Given the description of an element on the screen output the (x, y) to click on. 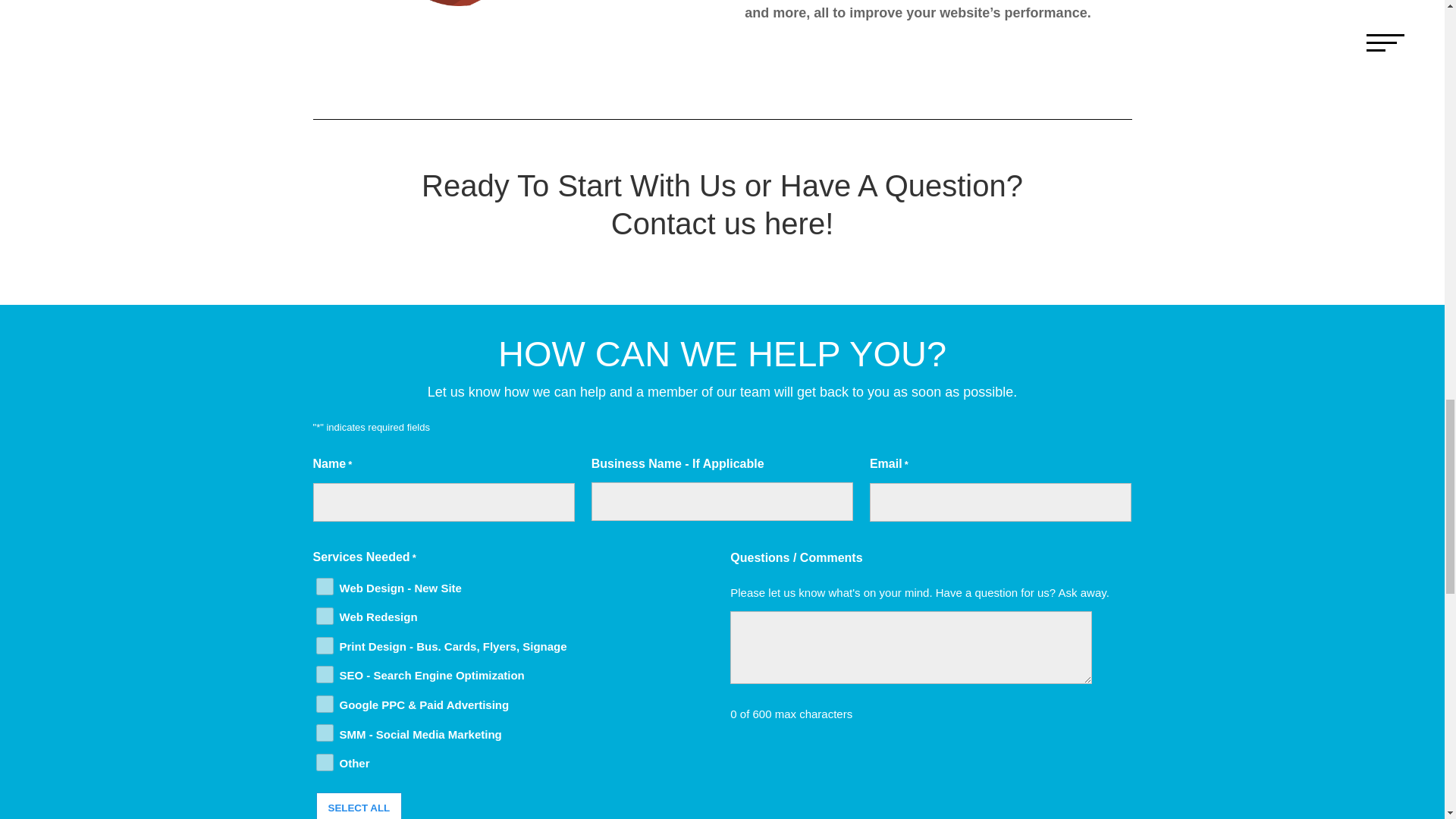
Web Design - New Site (324, 586)
Web Redesign (324, 615)
Print Design - Bus. Cards, Flyers, Signage (324, 645)
Other (324, 762)
SEO - Search Engine Optimization (324, 674)
SMM - Social Media Marketing (324, 732)
SELECT ALL (358, 805)
